Given the description of an element on the screen output the (x, y) to click on. 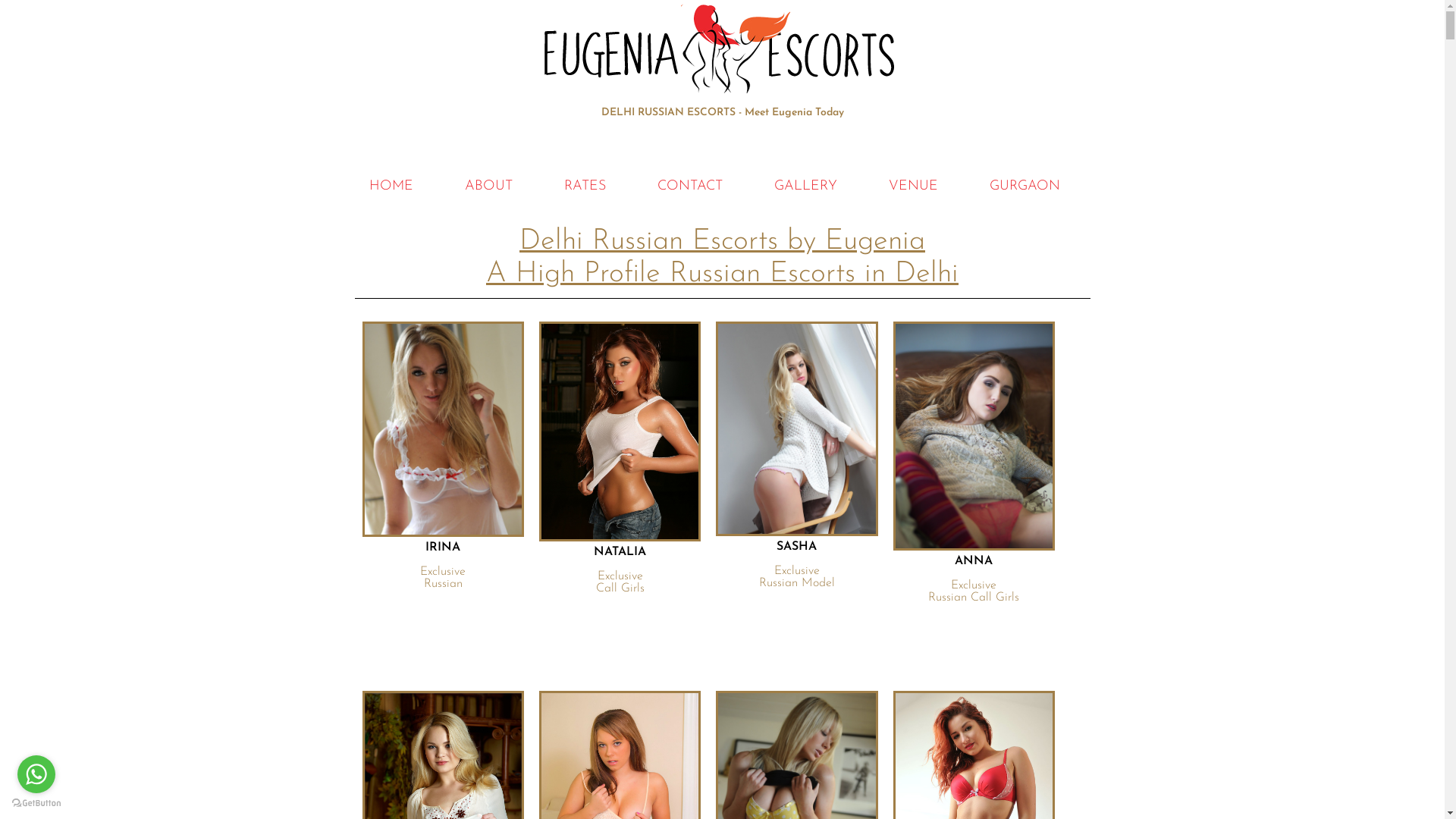
RATES Element type: text (584, 186)
GALLERY Element type: text (804, 186)
HOME Element type: text (390, 186)
ABOUT Element type: text (487, 186)
VENUE Element type: text (912, 186)
GURGAON Element type: text (1024, 186)
CONTACT Element type: text (688, 186)
